Given the description of an element on the screen output the (x, y) to click on. 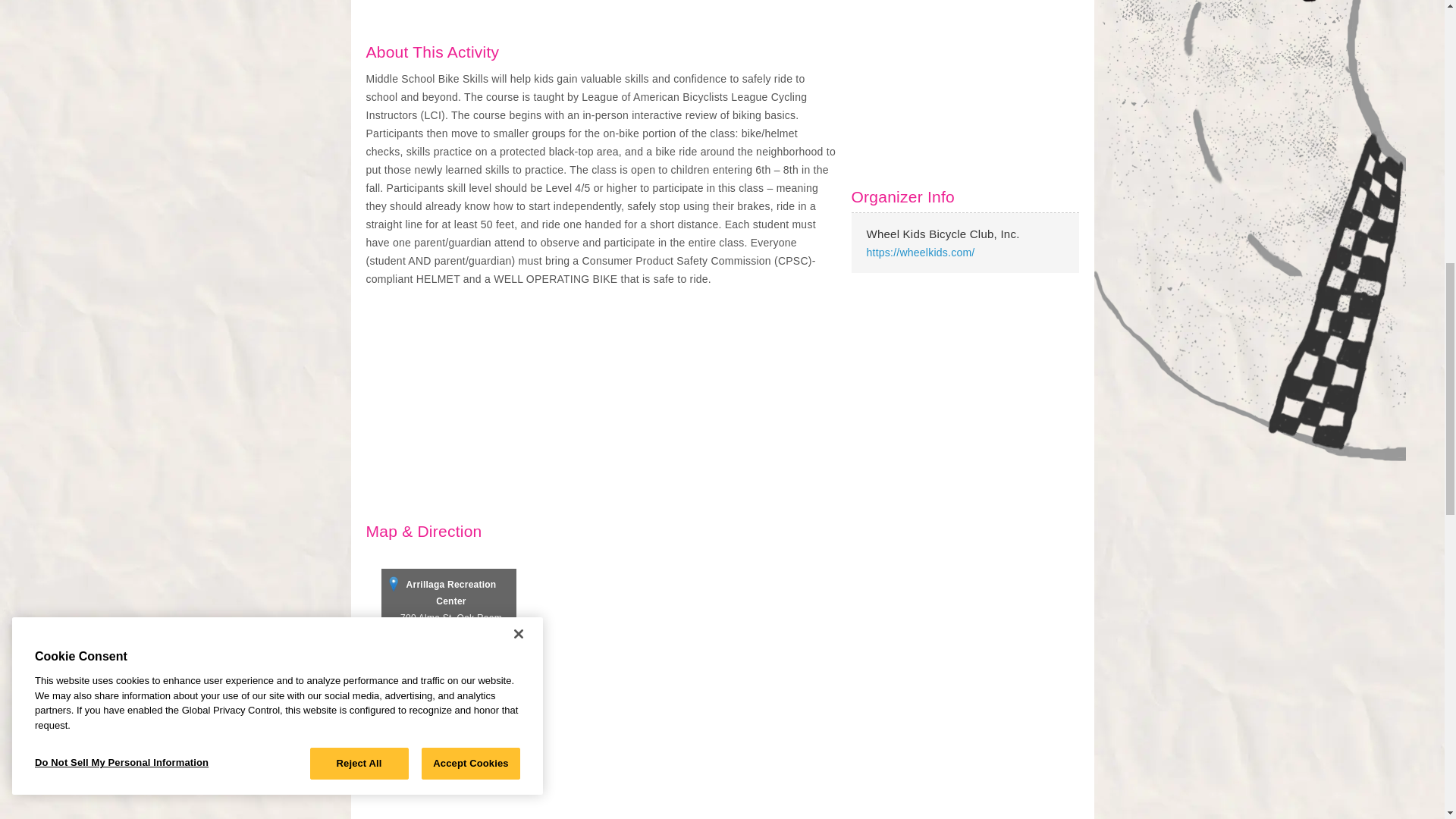
3rd party ad content (964, 79)
3rd party ad content (964, 398)
